Given the description of an element on the screen output the (x, y) to click on. 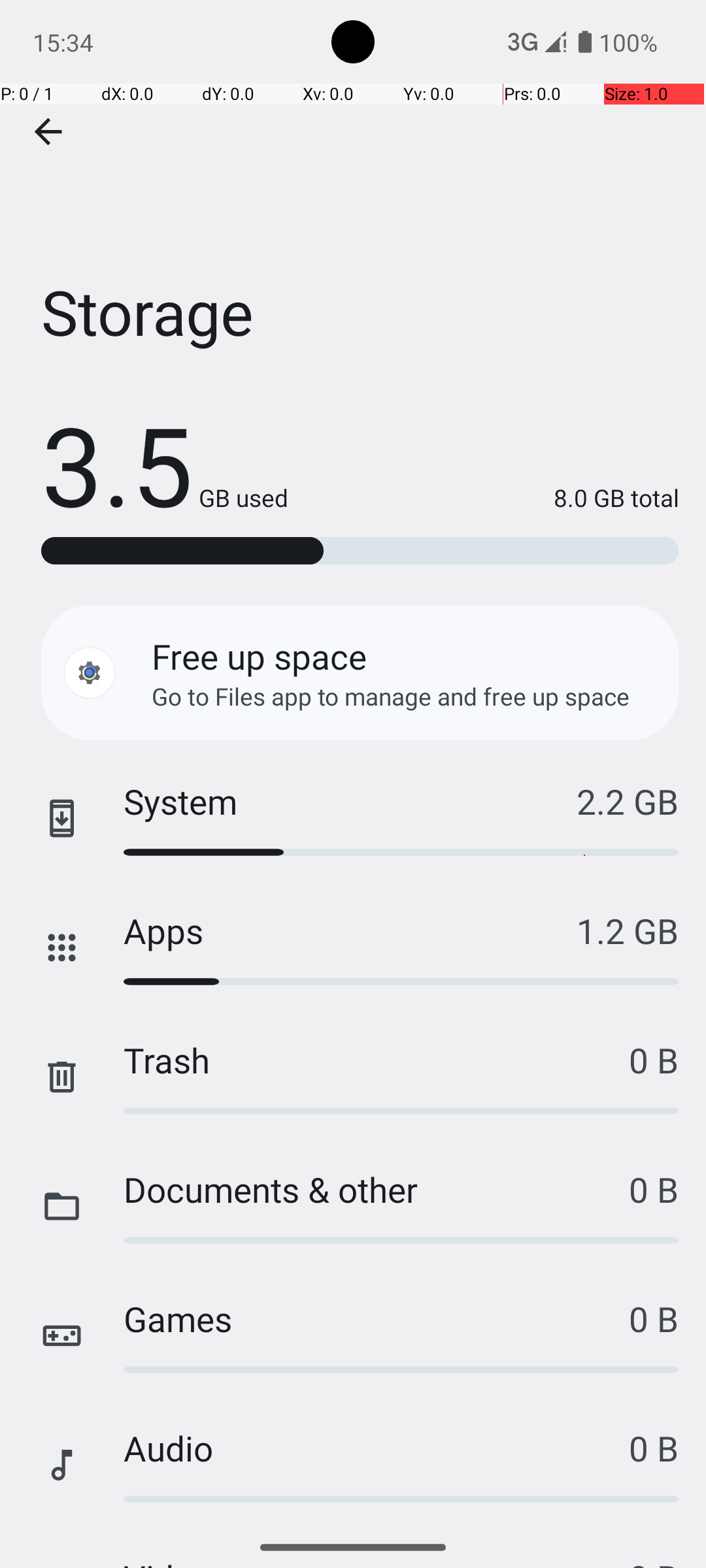
3.5 GB used Element type: android.widget.TextView (164, 463)
2.2 GB Element type: android.widget.TextView (627, 801)
1.2 GB Element type: android.widget.TextView (627, 930)
